Given the description of an element on the screen output the (x, y) to click on. 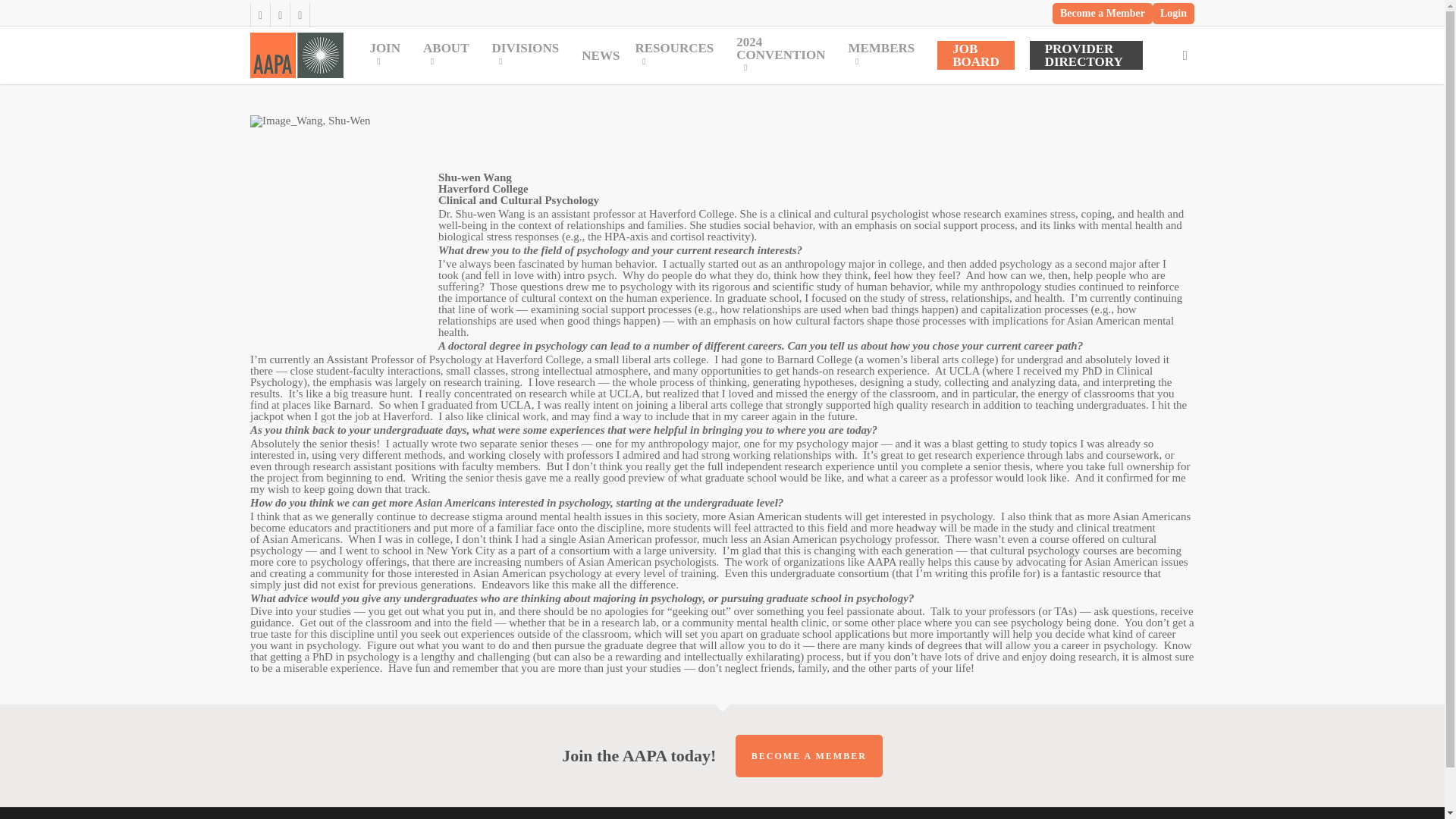
Login (1173, 13)
JOIN (387, 54)
ABOUT (448, 54)
NEWS (600, 54)
RESOURCES (678, 54)
Become a Member (1102, 13)
DIVISIONS (528, 54)
